Given the description of an element on the screen output the (x, y) to click on. 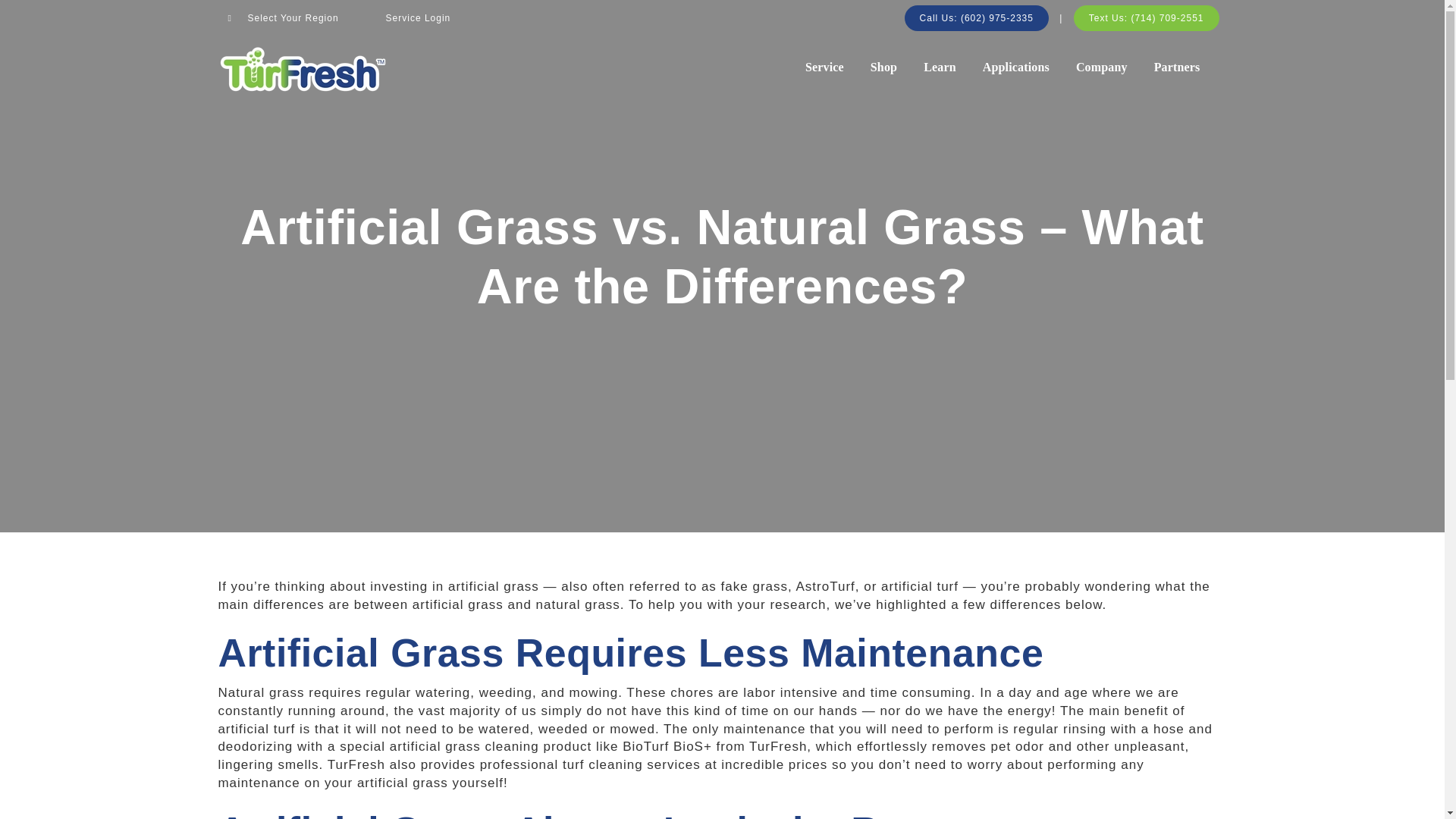
Company (1100, 67)
Applications (1015, 67)
Service Login (418, 18)
Select Your Region (283, 18)
